Given the description of an element on the screen output the (x, y) to click on. 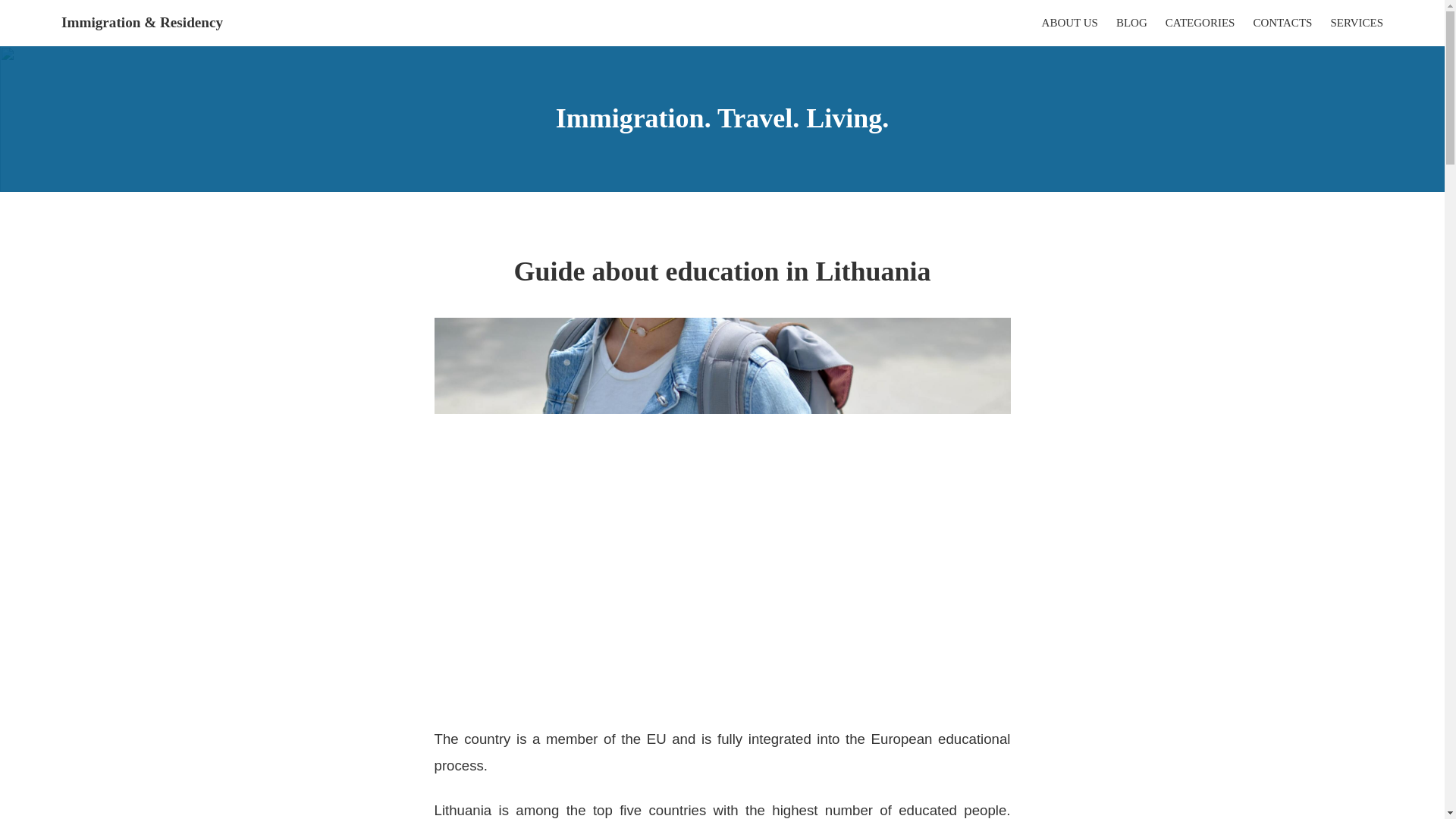
SERVICES (1356, 22)
CATEGORIES (1200, 22)
CONTACTS (1281, 22)
BLOG (1131, 22)
ABOUT US (1069, 22)
